Given the description of an element on the screen output the (x, y) to click on. 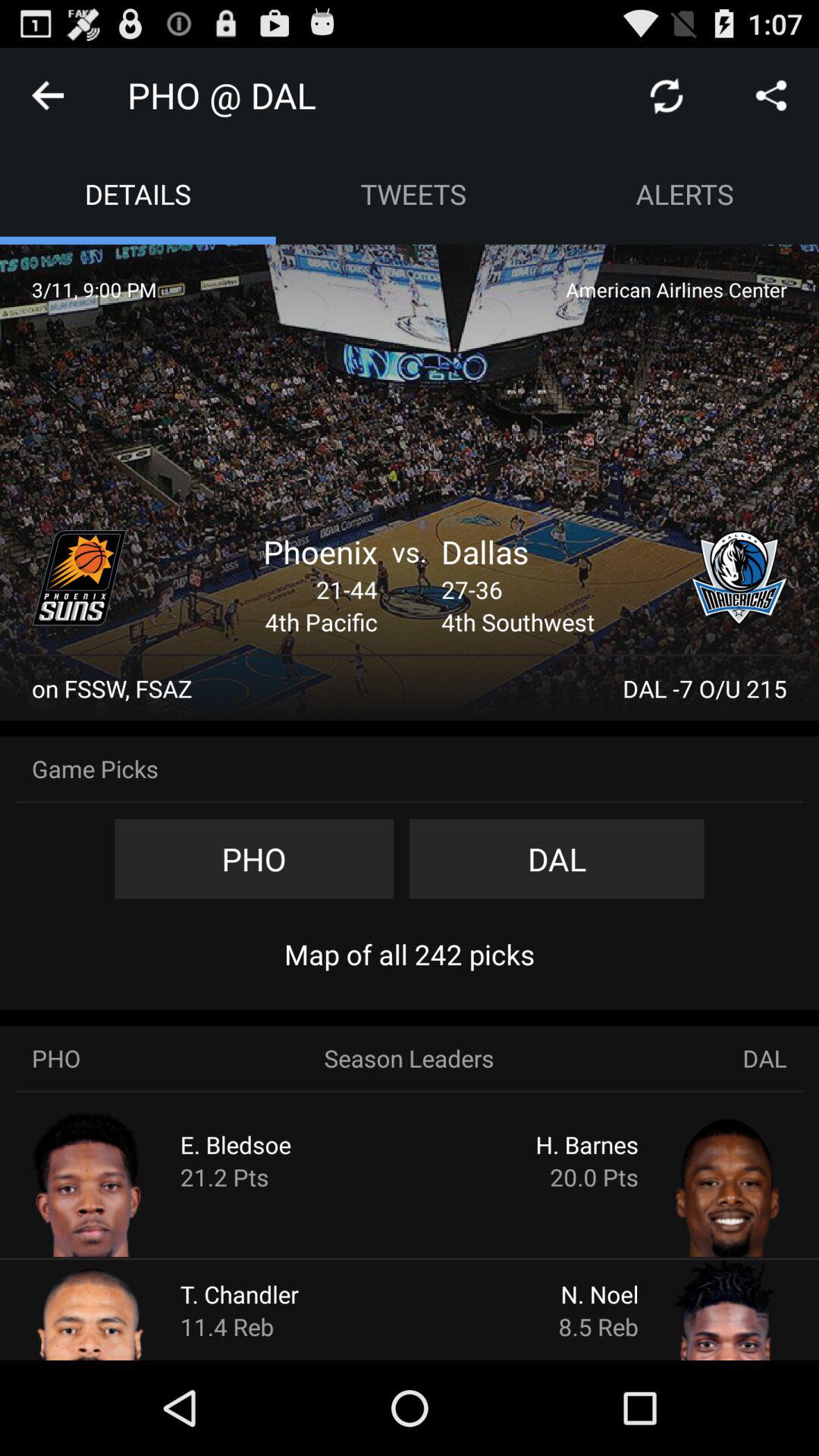
more information about n. noel (699, 1309)
